Given the description of an element on the screen output the (x, y) to click on. 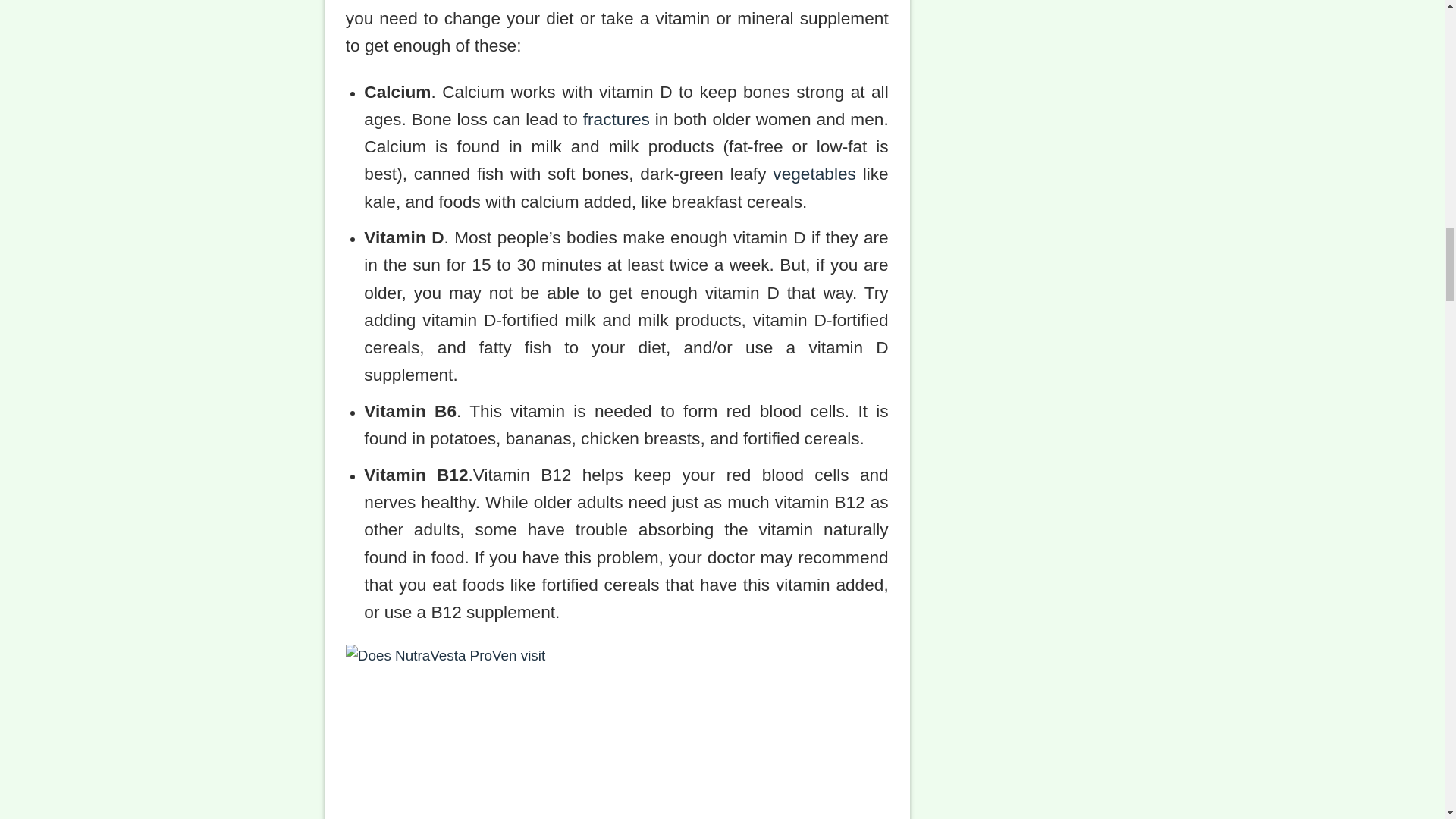
vegetables (814, 173)
fractures (616, 118)
Dietary Supplements 4 (617, 731)
